Given the description of an element on the screen output the (x, y) to click on. 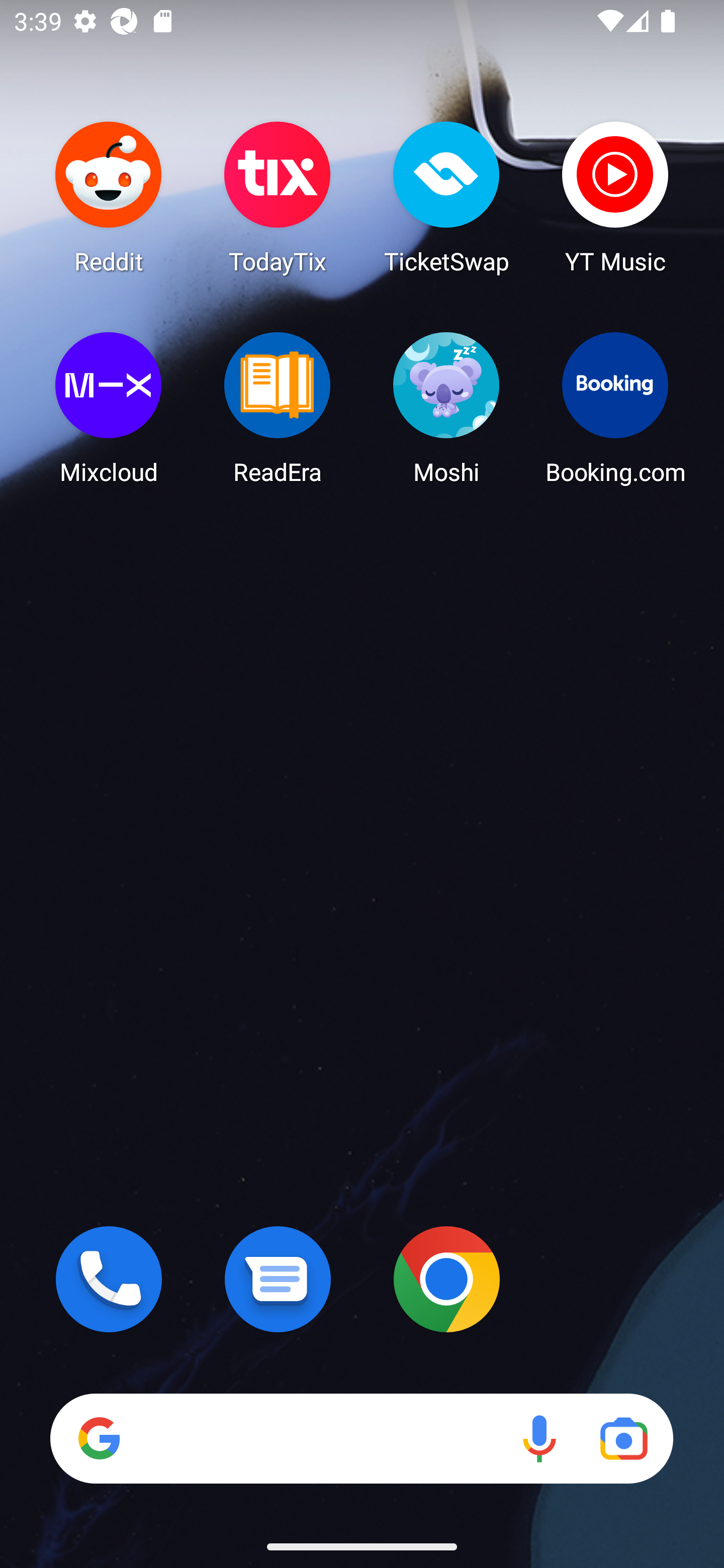
Reddit (108, 196)
TodayTix (277, 196)
TicketSwap (445, 196)
YT Music (615, 196)
Mixcloud (108, 407)
ReadEra (277, 407)
Moshi (445, 407)
Booking.com (615, 407)
Phone (108, 1279)
Messages (277, 1279)
Chrome (446, 1279)
Search Voice search Google Lens (361, 1438)
Voice search (539, 1438)
Google Lens (623, 1438)
